Given the description of an element on the screen output the (x, y) to click on. 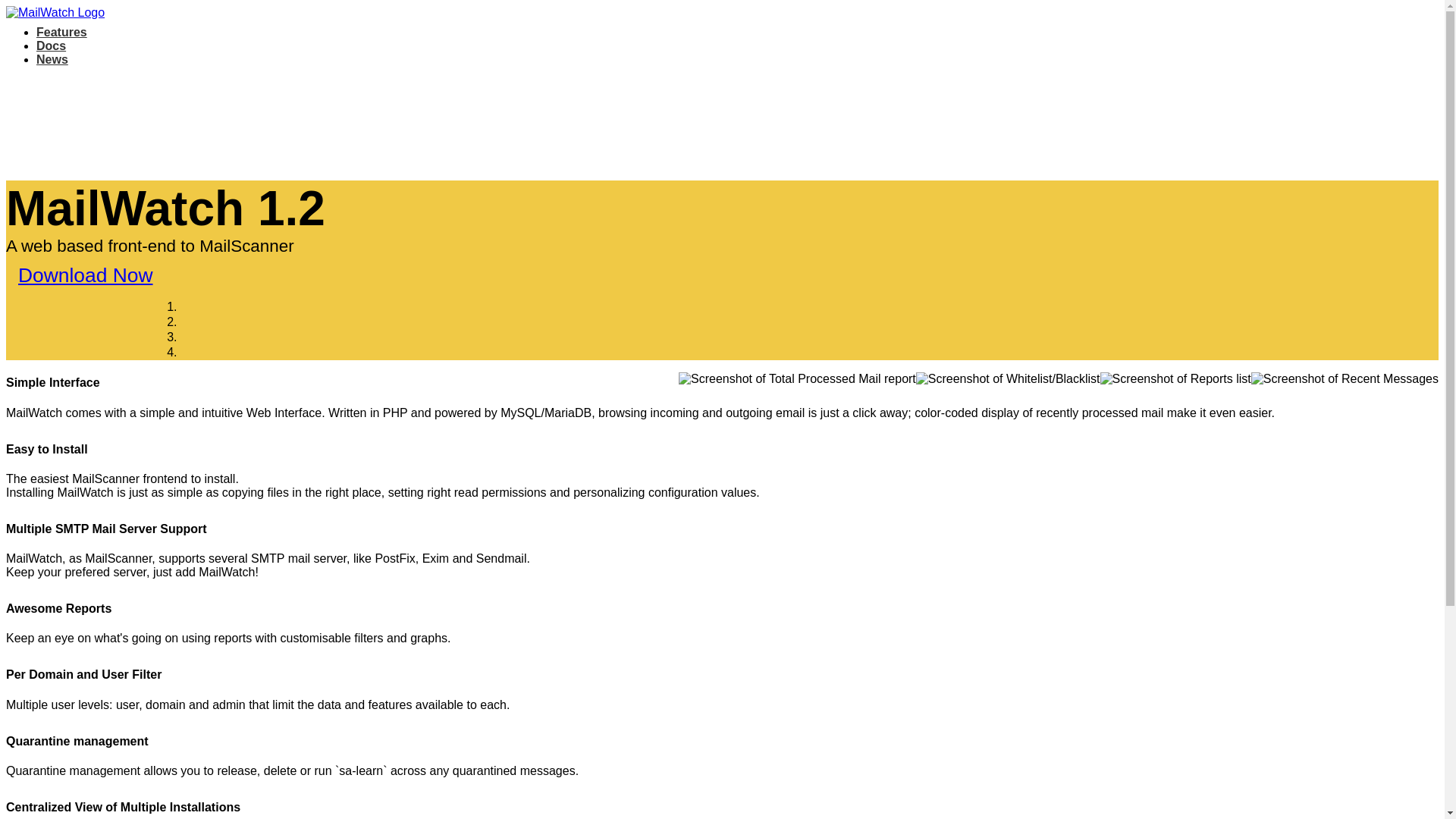
Docs (50, 45)
News (52, 59)
Download Now (85, 274)
Features (61, 31)
